Given the description of an element on the screen output the (x, y) to click on. 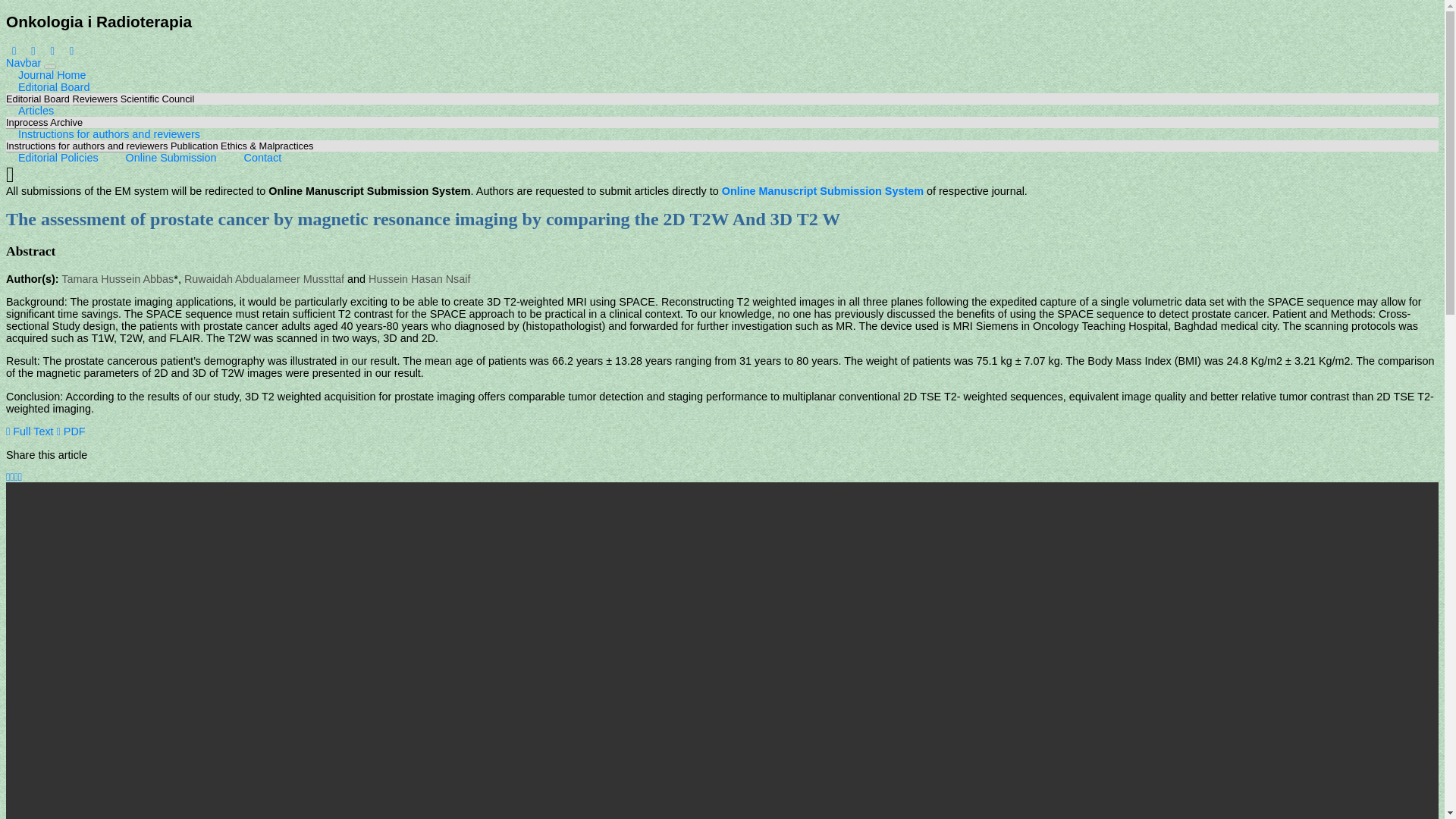
Click here (26, 122)
Ruwaidah Abdualameer Mussttaf (263, 278)
Click here (241, 144)
Ruwaidah Abdualameer Mussttaf (263, 278)
Instructions for authors and reviewers (86, 145)
Click here (65, 122)
Tamara Hussein Abbas (117, 278)
Editorial Board (37, 98)
Inprocess (26, 122)
Click here (170, 157)
Click here (52, 73)
Click here (156, 98)
Editorial Board (53, 86)
Navbar (22, 61)
Click here (94, 98)
